Given the description of an element on the screen output the (x, y) to click on. 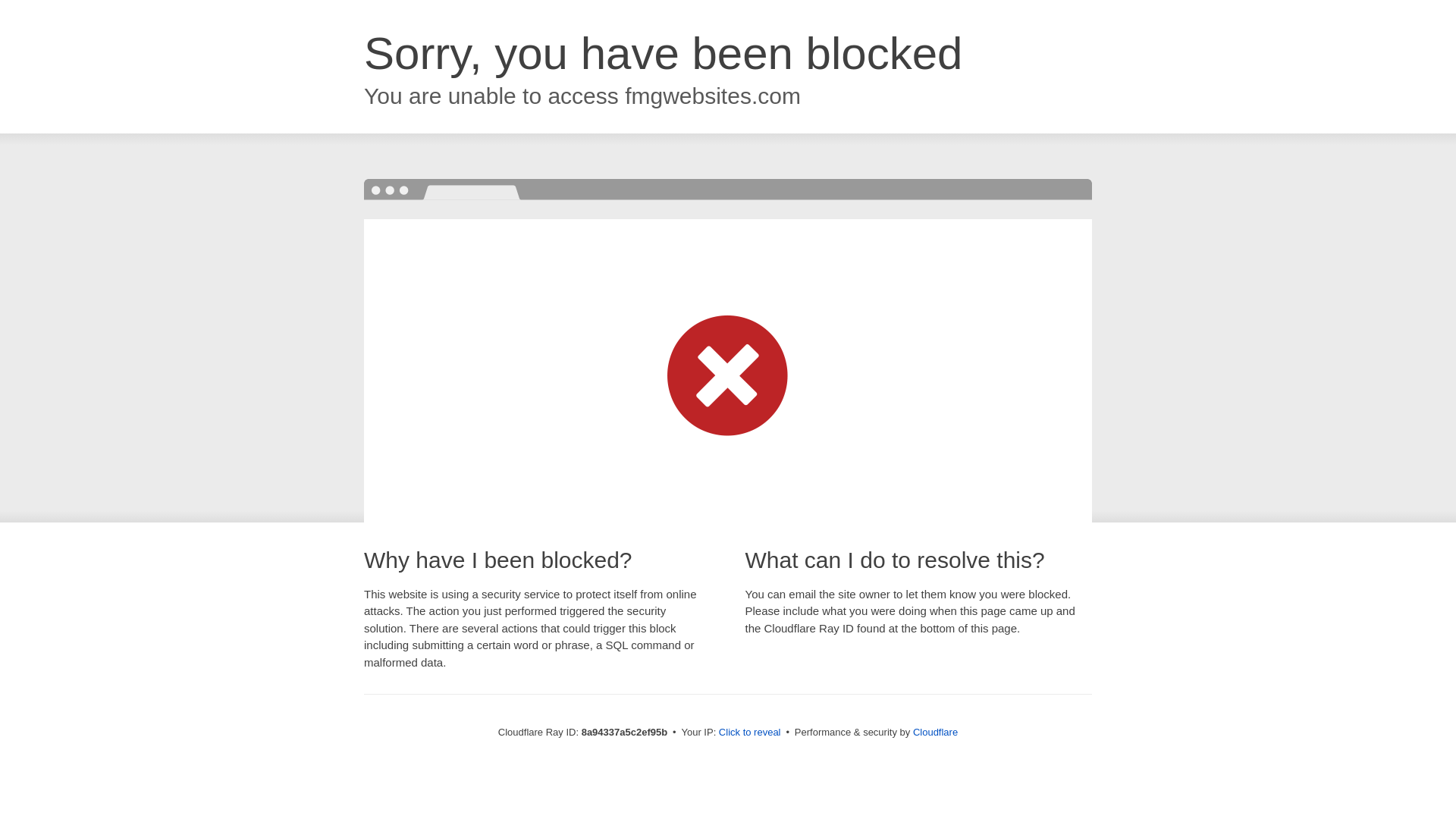
Click to reveal (749, 732)
Cloudflare (935, 731)
